Given the description of an element on the screen output the (x, y) to click on. 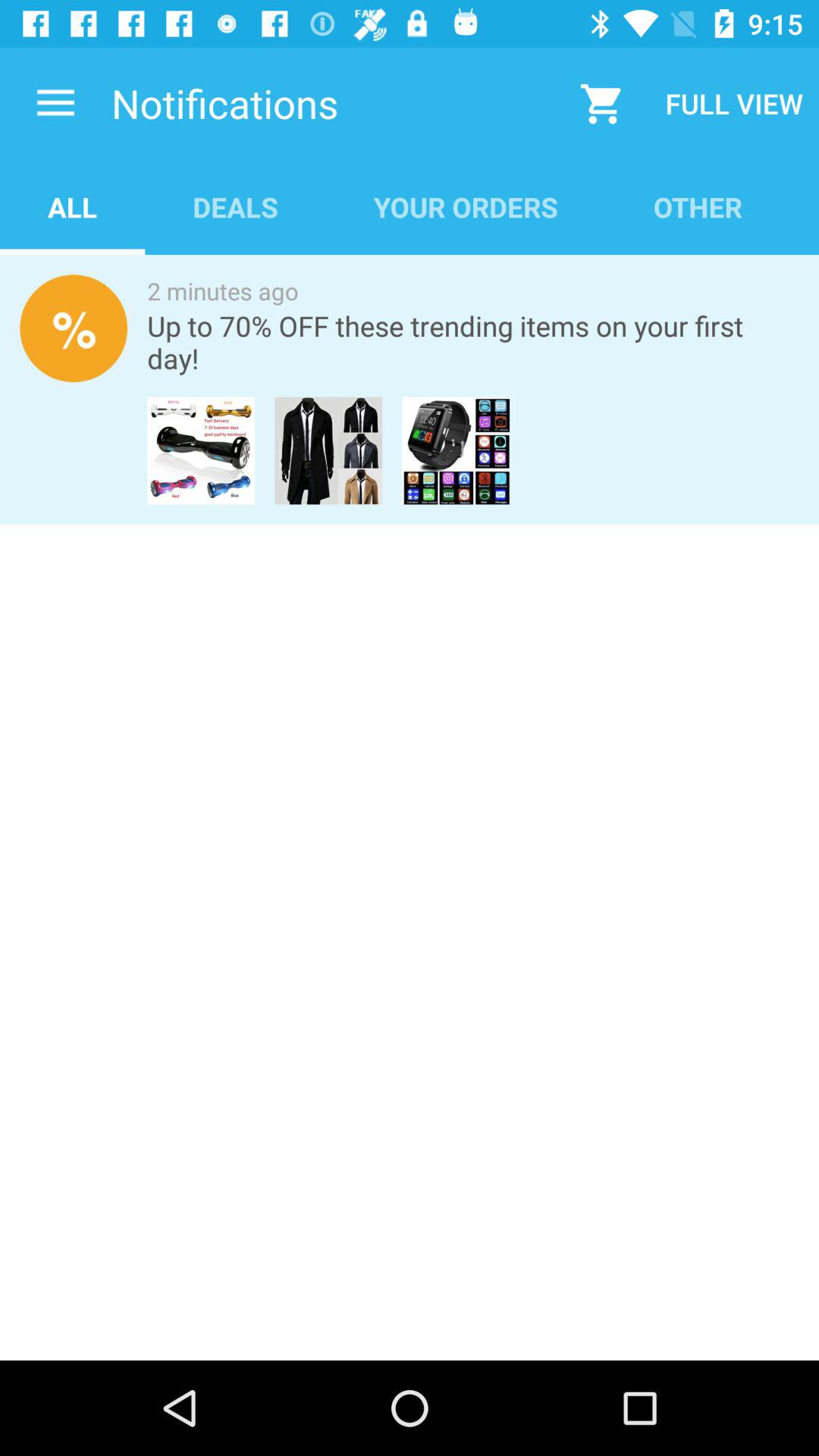
press full view item (734, 103)
